Given the description of an element on the screen output the (x, y) to click on. 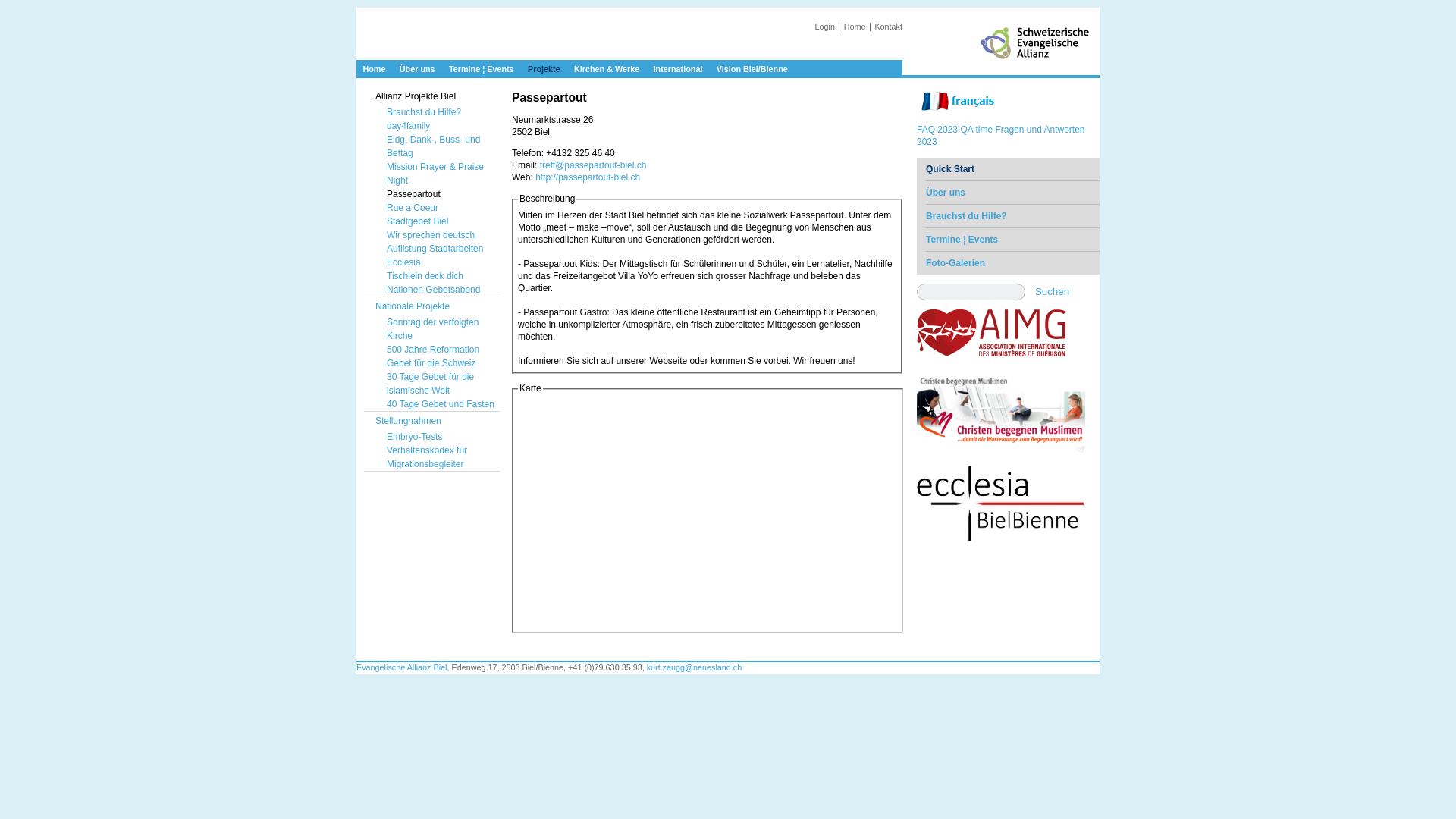
Kontakt Element type: text (888, 26)
Fragen und Antworten 2023 Element type: text (1000, 135)
Suchen Element type: text (1065, 290)
Schweizerische Evangelische Allianz (SEA) Element type: hover (1039, 61)
Passepartout Element type: text (437, 193)
QA time Element type: text (976, 129)
treff@passepartout-biel.ch Element type: text (592, 165)
Rue a Coeur Element type: text (437, 207)
day4family Element type: text (437, 125)
Skip to Navigation Element type: text (1070, 13)
40 Tage Gebet und Fasten Element type: text (437, 404)
Mission Prayer & Praise Night Element type: text (437, 173)
Vision Biel/Bienne Element type: text (751, 68)
Allianz Projekte Biel Element type: text (431, 96)
kurt.zaugg@neuesland.ch Element type: text (694, 666)
Wir sprechen deutsch Element type: text (437, 234)
Projekte Element type: text (543, 68)
Die Begriffe eingeben nach denen gesucht werden soll. Element type: hover (970, 291)
Ecclesia Element type: text (437, 262)
Sonntag der verfolgten Kirche Element type: text (437, 328)
Auflistung Stadtarbeiten Element type: text (437, 248)
Startseite Element type: hover (629, 47)
500 Jahre Reformation Element type: text (437, 349)
Eidg. Dank-, Buss- und Bettag Element type: text (437, 146)
Stellungnahmen Element type: text (431, 420)
Home Element type: text (855, 26)
International Element type: text (677, 68)
http://passepartout-biel.ch Element type: text (587, 177)
Nationale Projekte Element type: text (431, 306)
Brauchst du Hilfe? Element type: text (1012, 215)
Home Element type: text (373, 68)
Tischlein deck dich Element type: text (437, 275)
Nationen Gebetsabend Element type: text (437, 289)
Kirchen & Werke Element type: text (606, 68)
Login Element type: text (824, 26)
Embryo-Tests Element type: text (437, 436)
Brauchst du Hilfe? Element type: text (437, 112)
Foto-Galerien Element type: text (1012, 262)
Evangelische Allianz Biel, Element type: text (402, 666)
Stadtgebet Biel Element type: text (437, 221)
FAQ 2023 Element type: text (936, 129)
